Given the description of an element on the screen output the (x, y) to click on. 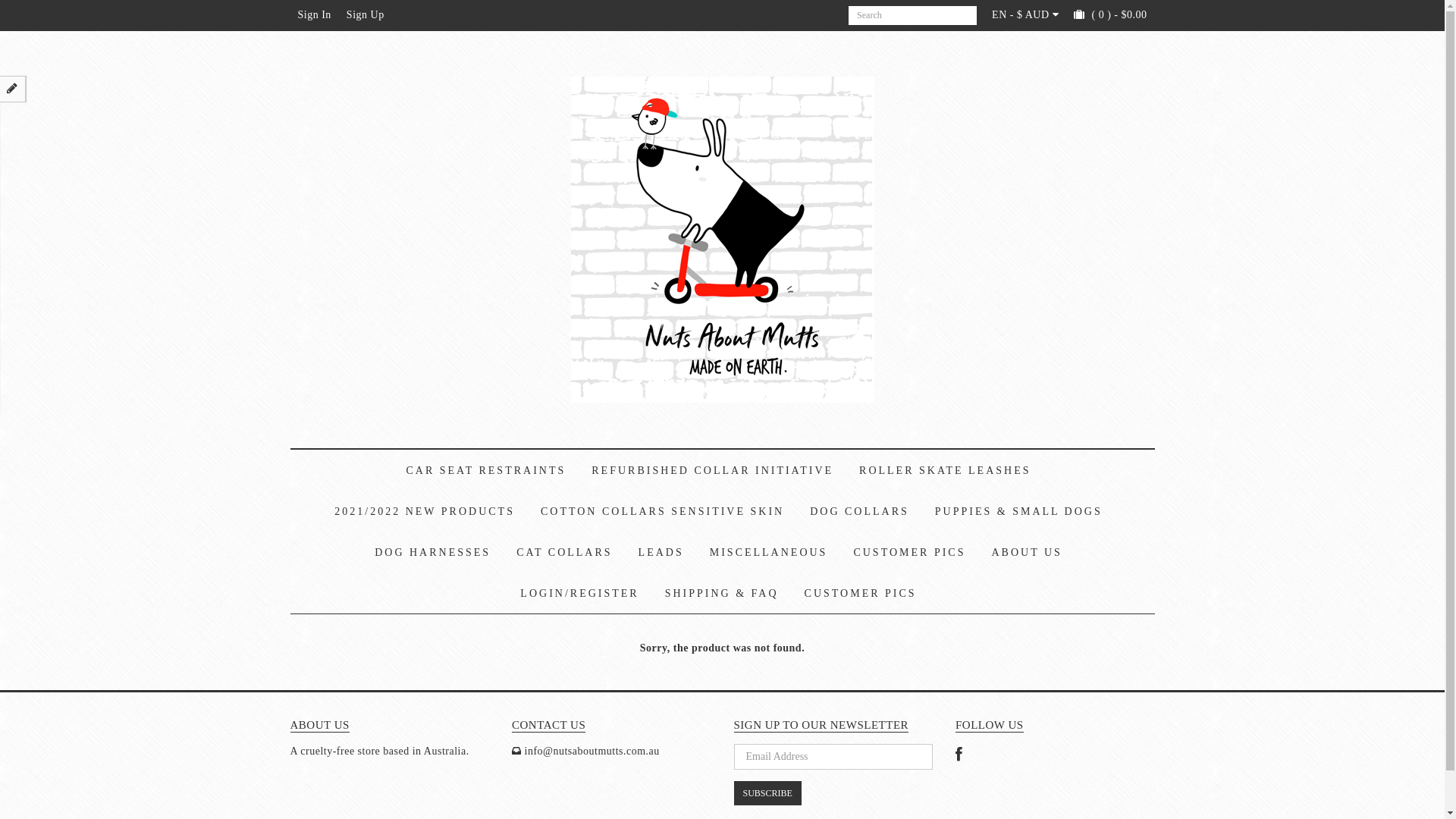
ROLLER SKATE LEASHES Element type: text (944, 470)
info@nutsaboutmutts.com.au Element type: text (591, 750)
CAT COLLARS Element type: text (563, 552)
DOG COLLARS Element type: text (859, 511)
LEADS Element type: text (660, 552)
LOGIN/REGISTER Element type: text (579, 593)
MISCELLANEOUS Element type: text (768, 552)
REFURBISHED COLLAR INITIATIVE Element type: text (711, 470)
ABOUT US Element type: text (1026, 552)
CUSTOMER PICS Element type: text (860, 593)
2021/2022 NEW PRODUCTS Element type: text (424, 511)
EN - $ AUD Element type: text (1025, 15)
DOG HARNESSES Element type: text (432, 552)
( 0 ) - $0.00 Element type: text (1110, 15)
CAR SEAT RESTRAINTS Element type: text (486, 470)
SUBSCRIBE Element type: text (767, 793)
PUPPIES & SMALL DOGS Element type: text (1018, 511)
SHIPPING & FAQ Element type: text (721, 593)
CUSTOMER PICS Element type: text (908, 552)
Sign Up Element type: text (365, 15)
COTTON COLLARS SENSITIVE SKIN Element type: text (662, 511)
Sign In Element type: text (313, 15)
